Given the description of an element on the screen output the (x, y) to click on. 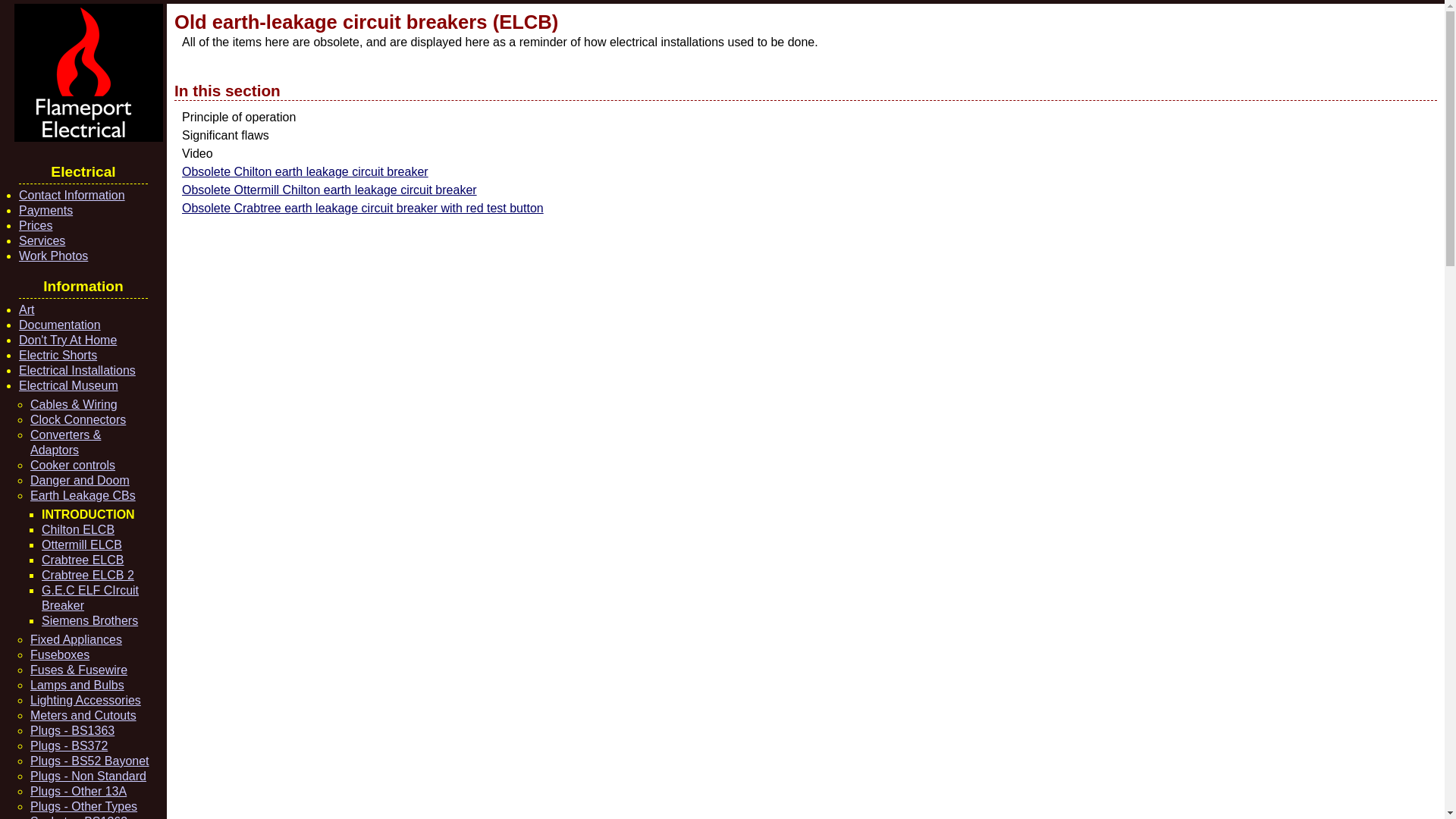
Fuseboxes (59, 654)
Electrical Installations (76, 369)
Ottermill ELCB (82, 544)
Danger and Doom (79, 480)
Lighting Accessories (85, 699)
Prices (35, 225)
Earth Leakage CBs (82, 495)
Meters and Cutouts (83, 715)
Electrical Museum (67, 385)
Plugs - Other 13A (78, 790)
